Given the description of an element on the screen output the (x, y) to click on. 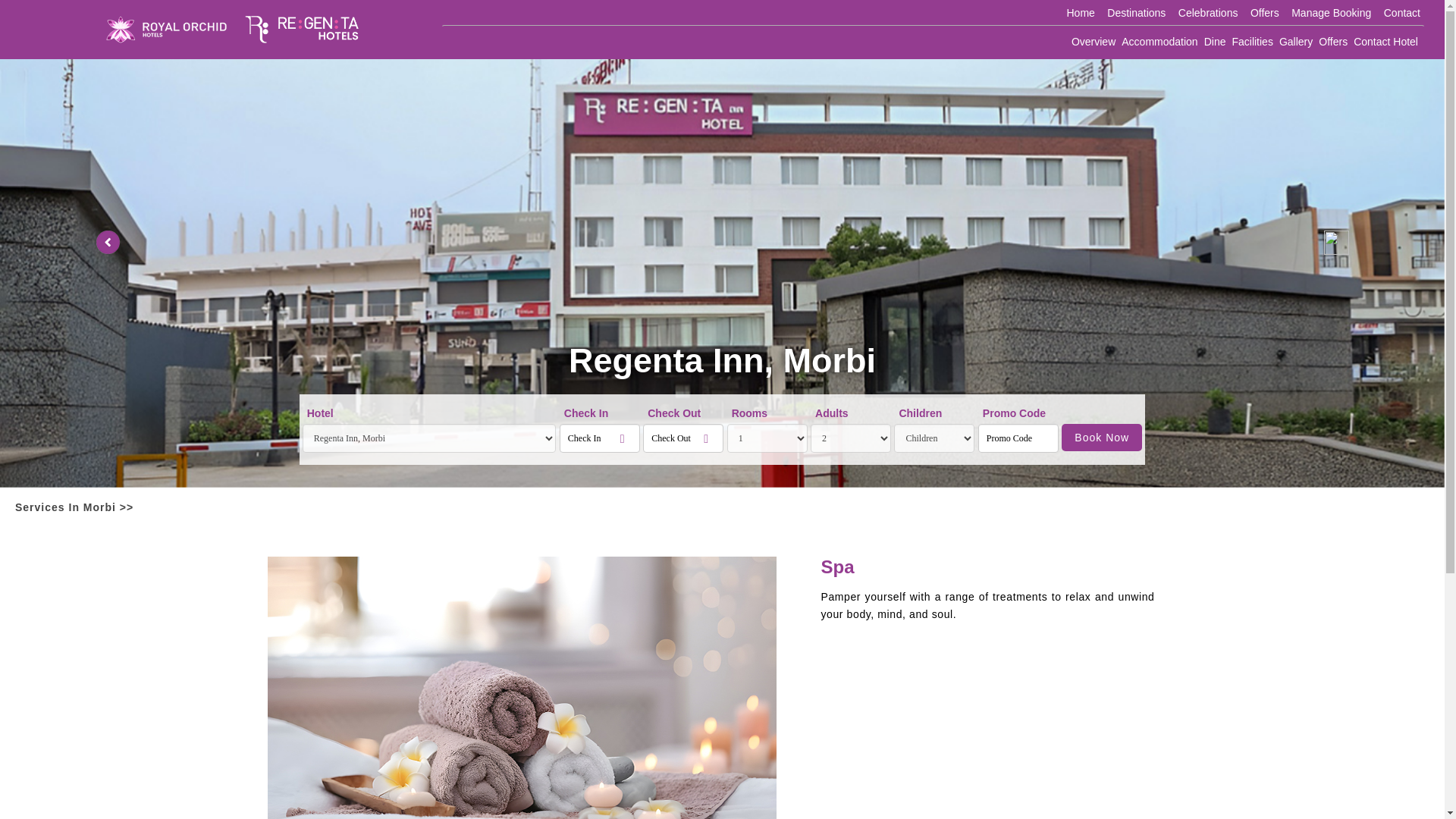
Book Now (1101, 436)
Home (1080, 12)
Destinations (1136, 12)
